Given the description of an element on the screen output the (x, y) to click on. 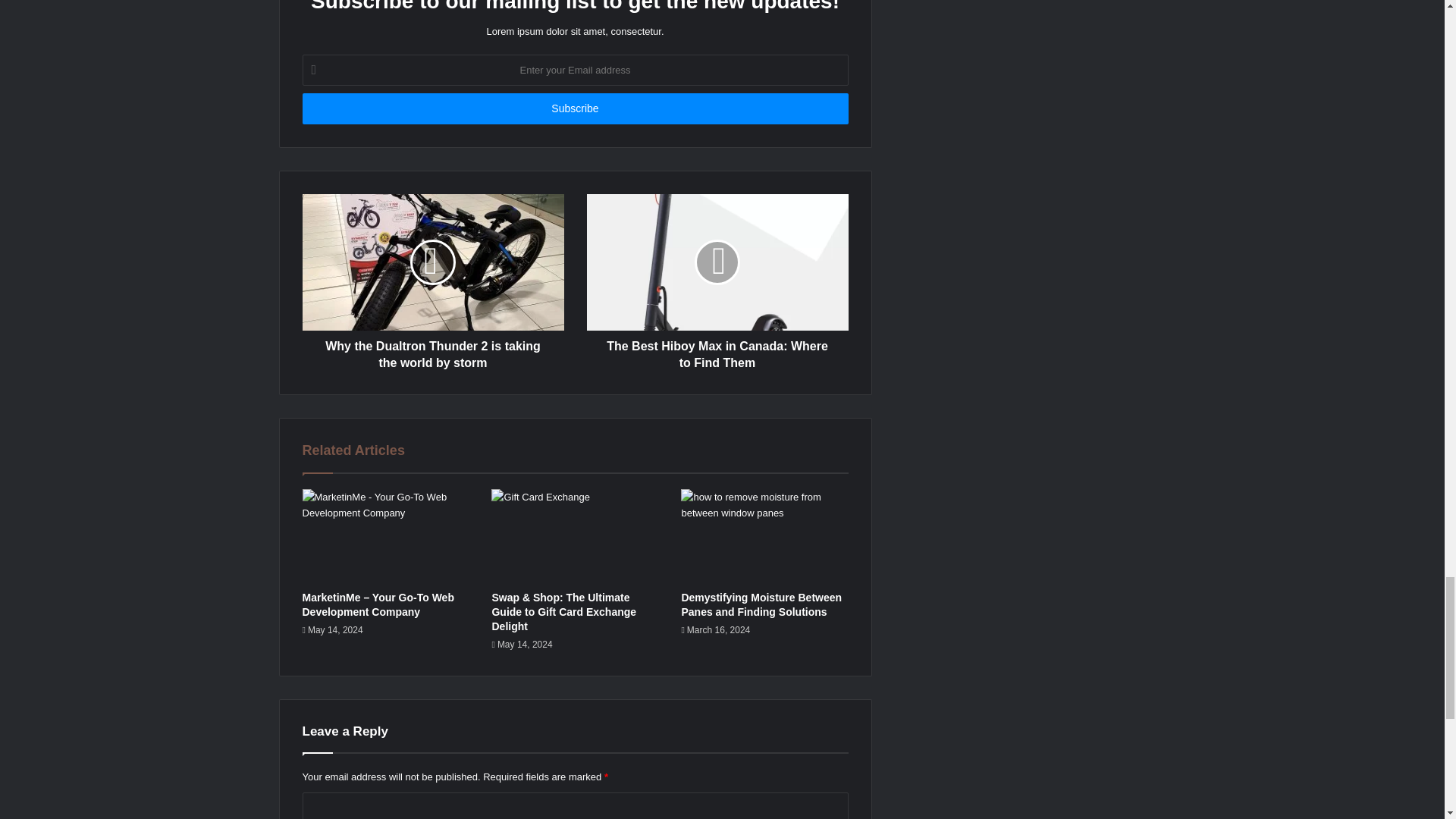
Subscribe (574, 108)
